Given the description of an element on the screen output the (x, y) to click on. 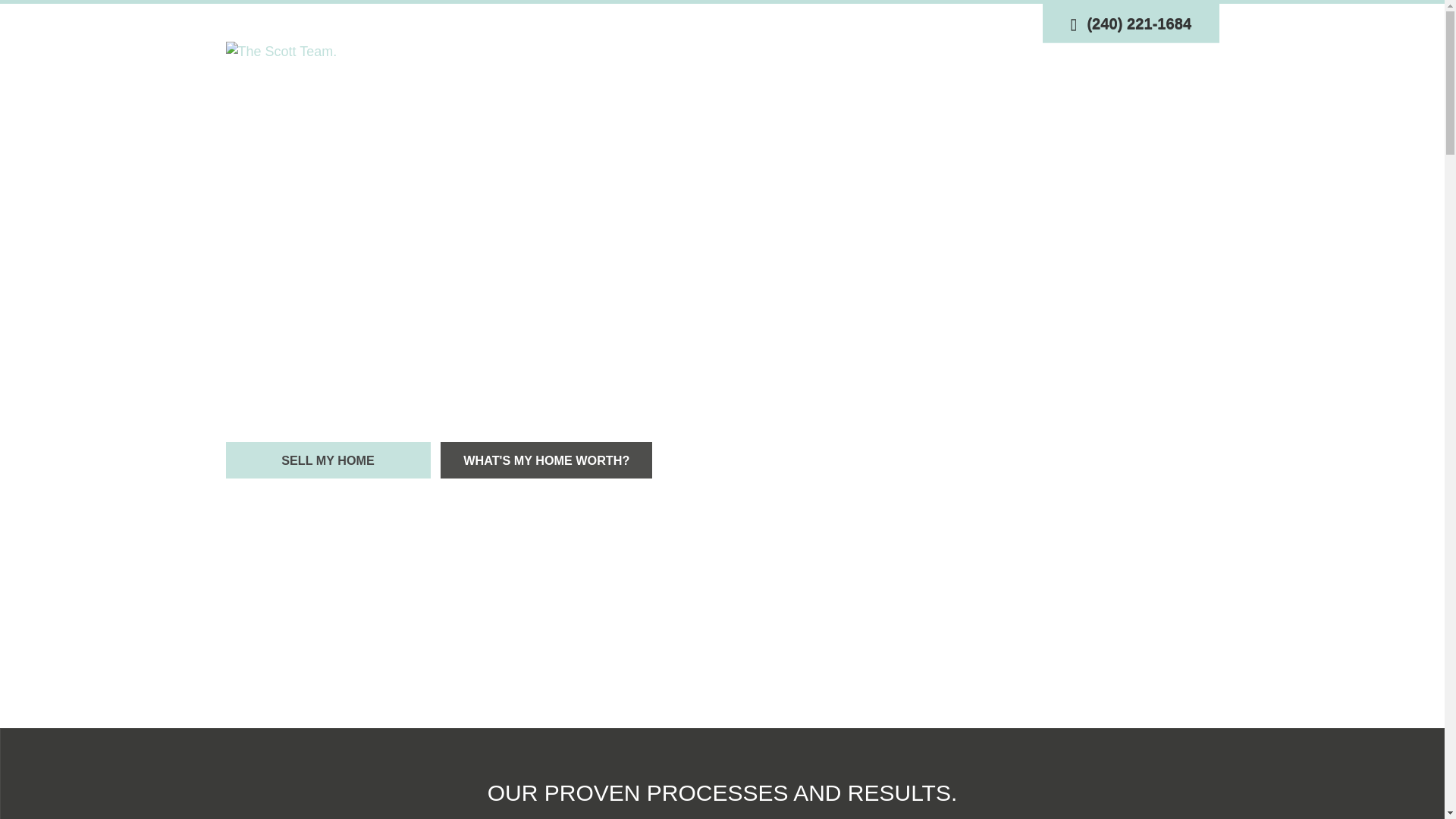
Register (925, 23)
Select Language (1010, 23)
Login (876, 23)
Home Page (281, 50)
